Given the description of an element on the screen output the (x, y) to click on. 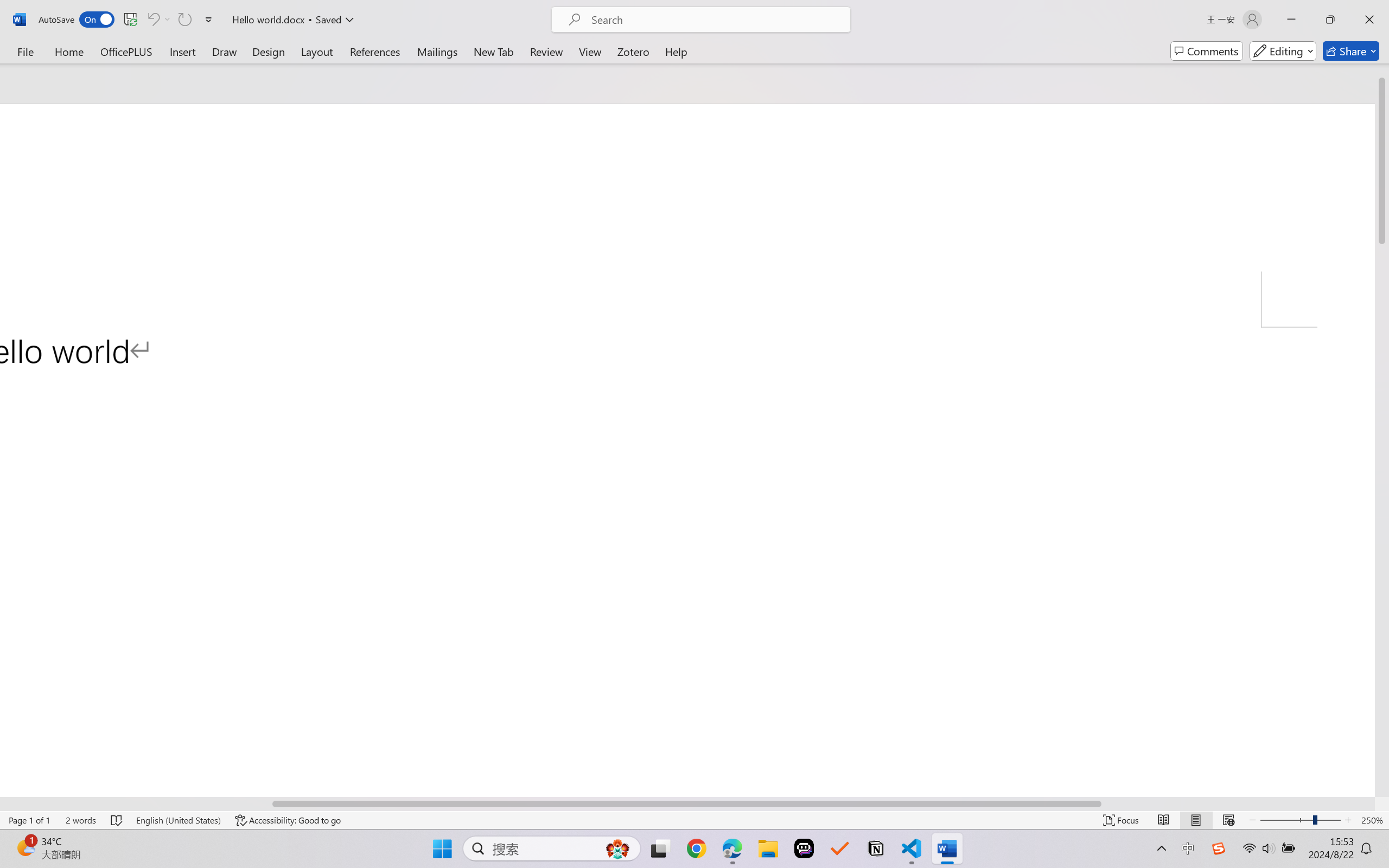
Read Mode (1163, 819)
Page 1 content (687, 581)
Page Number Page 1 of 1 (29, 819)
Share (1350, 51)
View (589, 51)
Home (69, 51)
Zoom Out (1278, 819)
AutoSave (76, 19)
Design (268, 51)
Customize Quick Access Toolbar (208, 19)
